Given the description of an element on the screen output the (x, y) to click on. 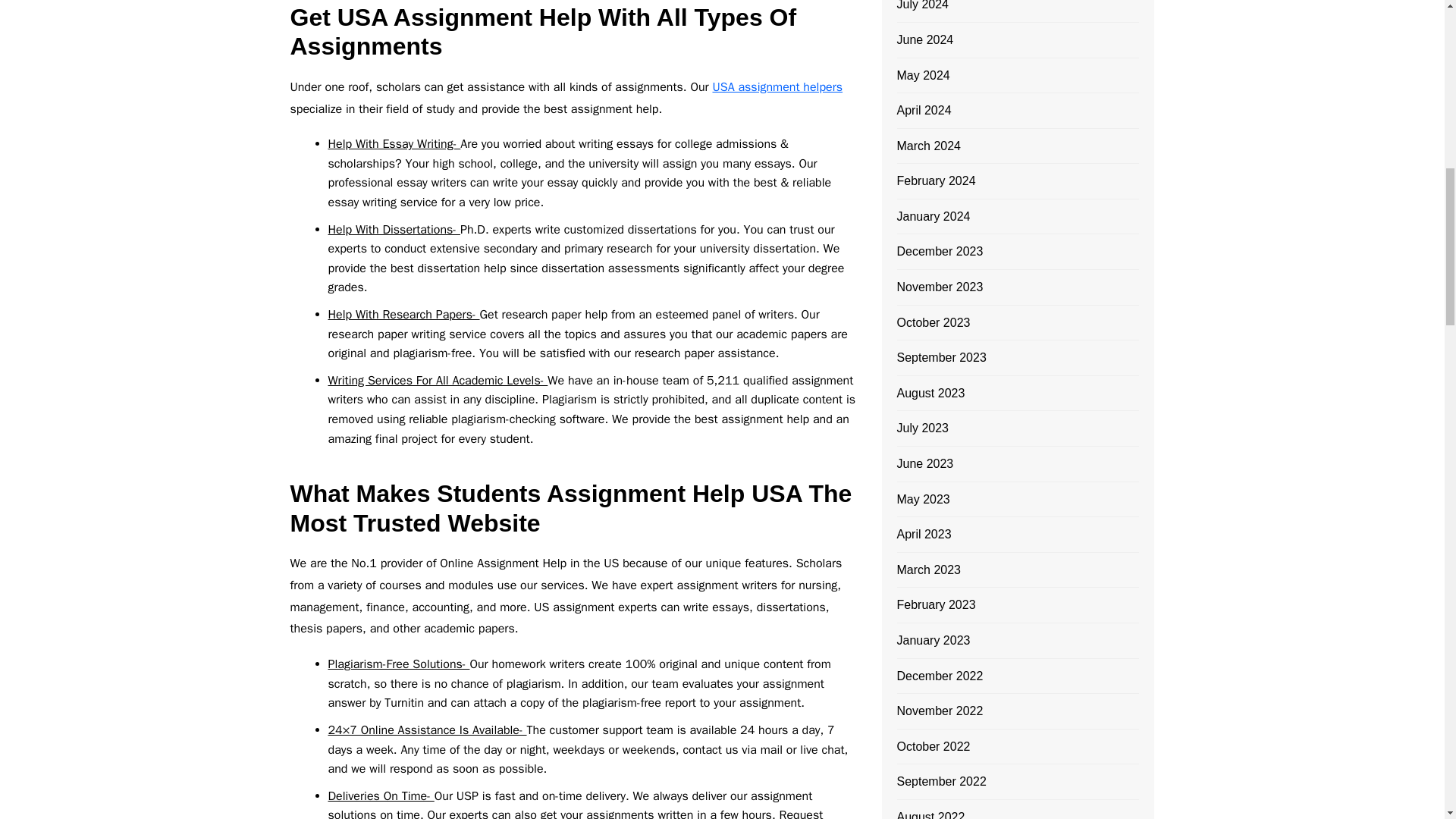
USA assignment helpers (777, 87)
